Given the description of an element on the screen output the (x, y) to click on. 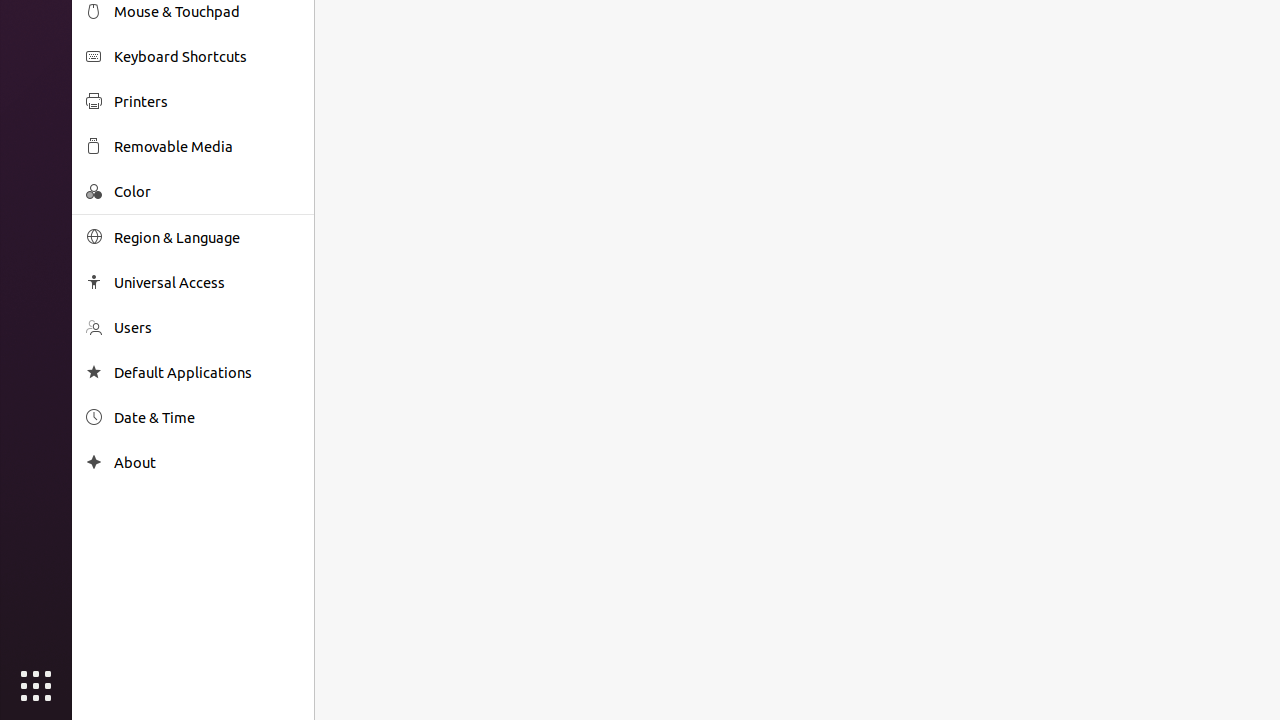
Printers Element type: label (207, 101)
Keyboard Shortcuts Element type: label (207, 56)
Region & Language Element type: label (207, 237)
